Given the description of an element on the screen output the (x, y) to click on. 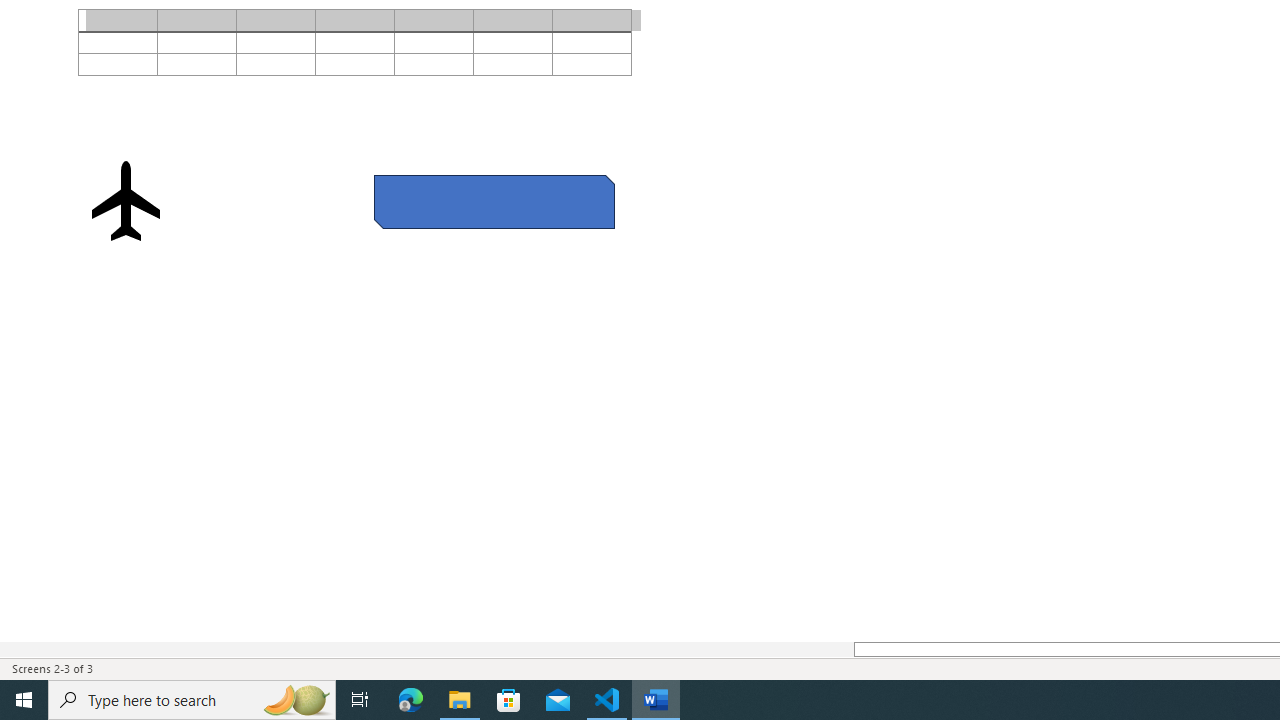
Page Number Screens 2-3 of 3  (52, 668)
Page left (426, 649)
Airplane with solid fill (126, 200)
Rectangle: Diagonal Corners Snipped 2 (493, 201)
